Given the description of an element on the screen output the (x, y) to click on. 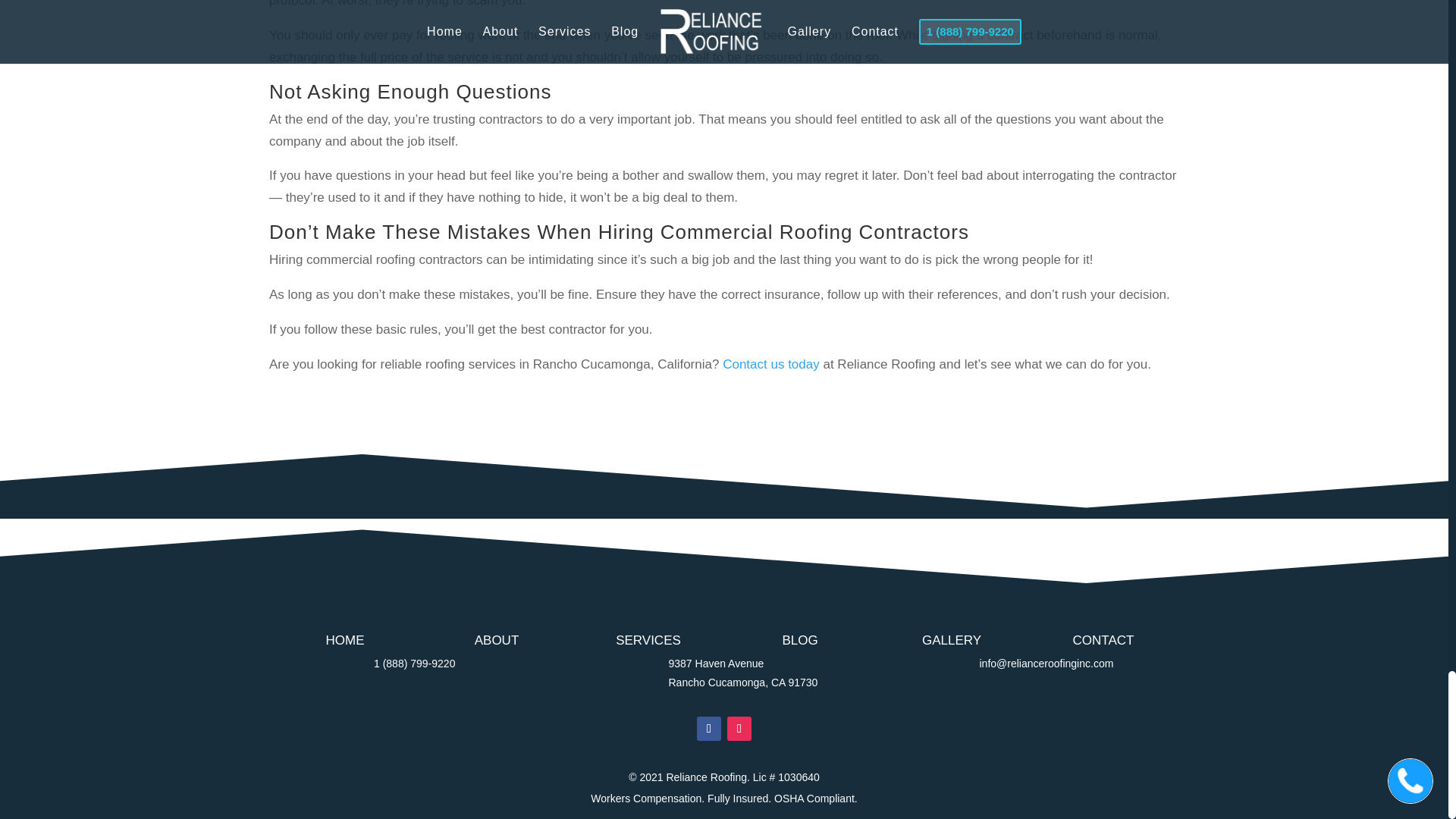
HOME (345, 640)
Follow on Facebook (708, 728)
Contact us today (770, 364)
CONTACT (1103, 640)
BLOG (798, 640)
SERVICES (648, 640)
ABOUT (496, 640)
9387 Haven Avenue (716, 663)
RelianceRoofingLogo (723, 580)
Rancho Cucamonga, CA 91730 (743, 682)
